Given the description of an element on the screen output the (x, y) to click on. 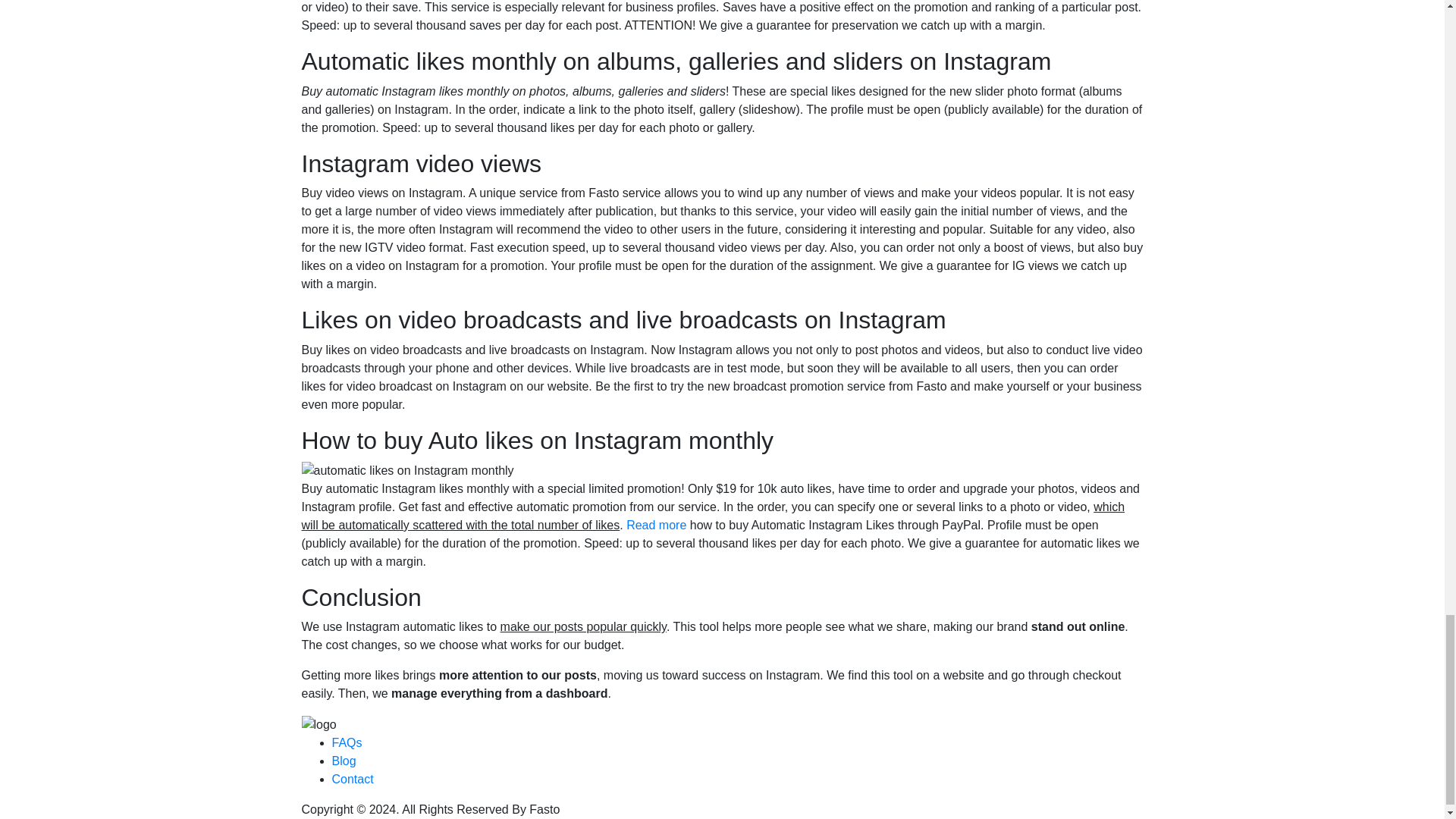
Read more (655, 524)
Contact (352, 779)
FAQs (346, 742)
Blog (343, 760)
